Given the description of an element on the screen output the (x, y) to click on. 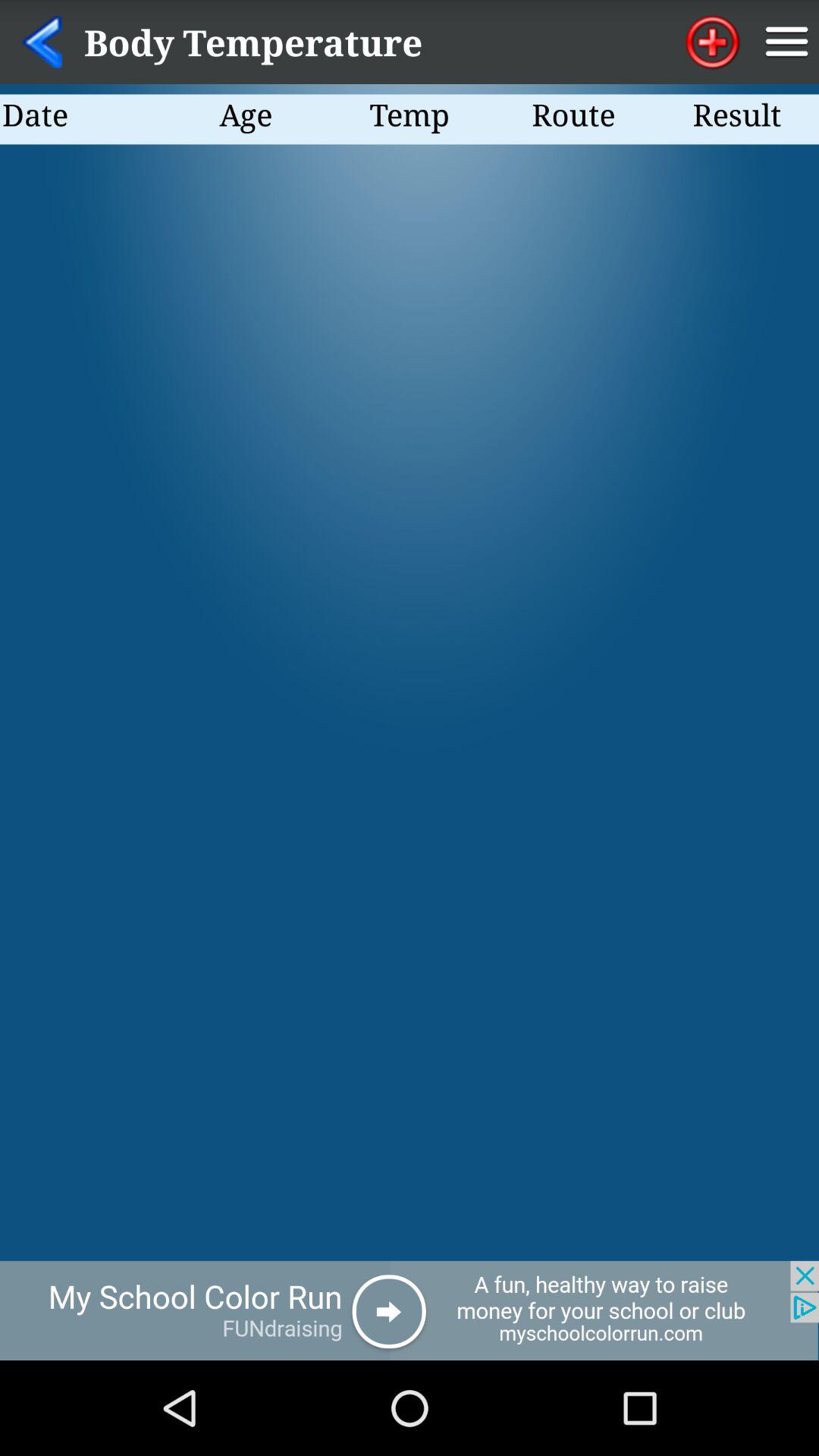
click pause button (786, 41)
